Given the description of an element on the screen output the (x, y) to click on. 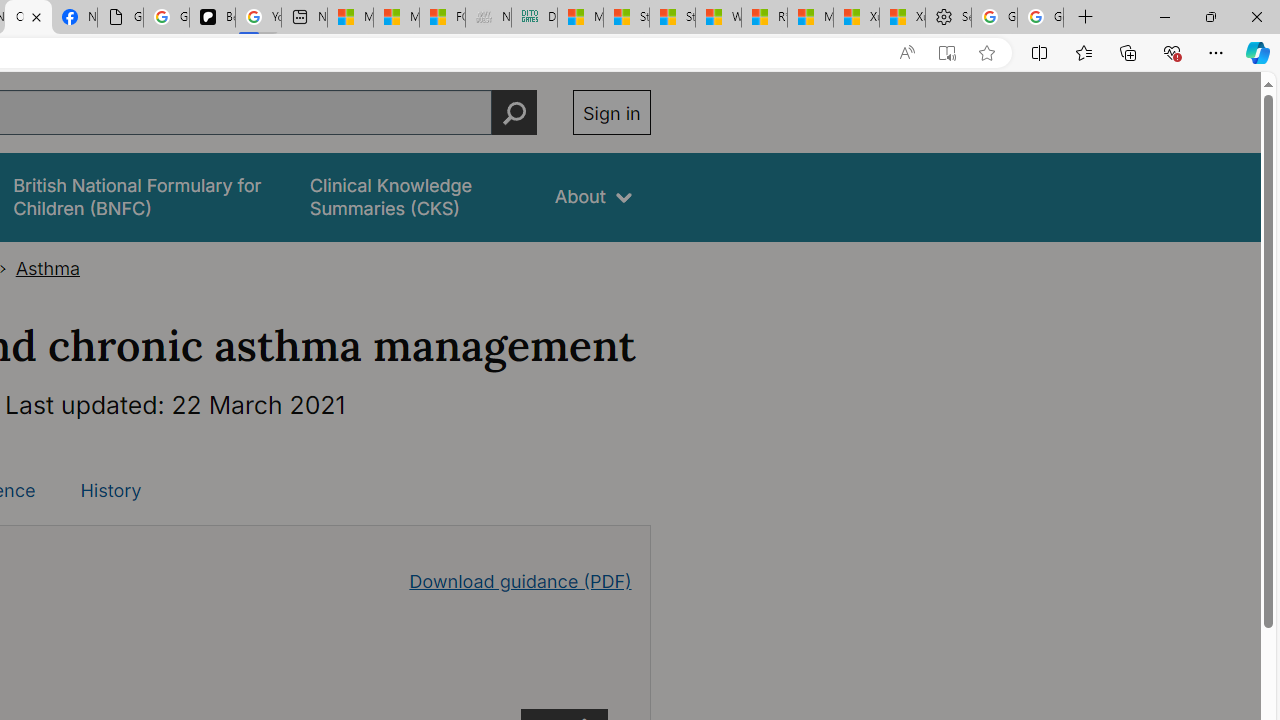
R******* | Trusted Community Engagement and Contributions (764, 17)
Stocks - MSN (672, 17)
